Given the description of an element on the screen output the (x, y) to click on. 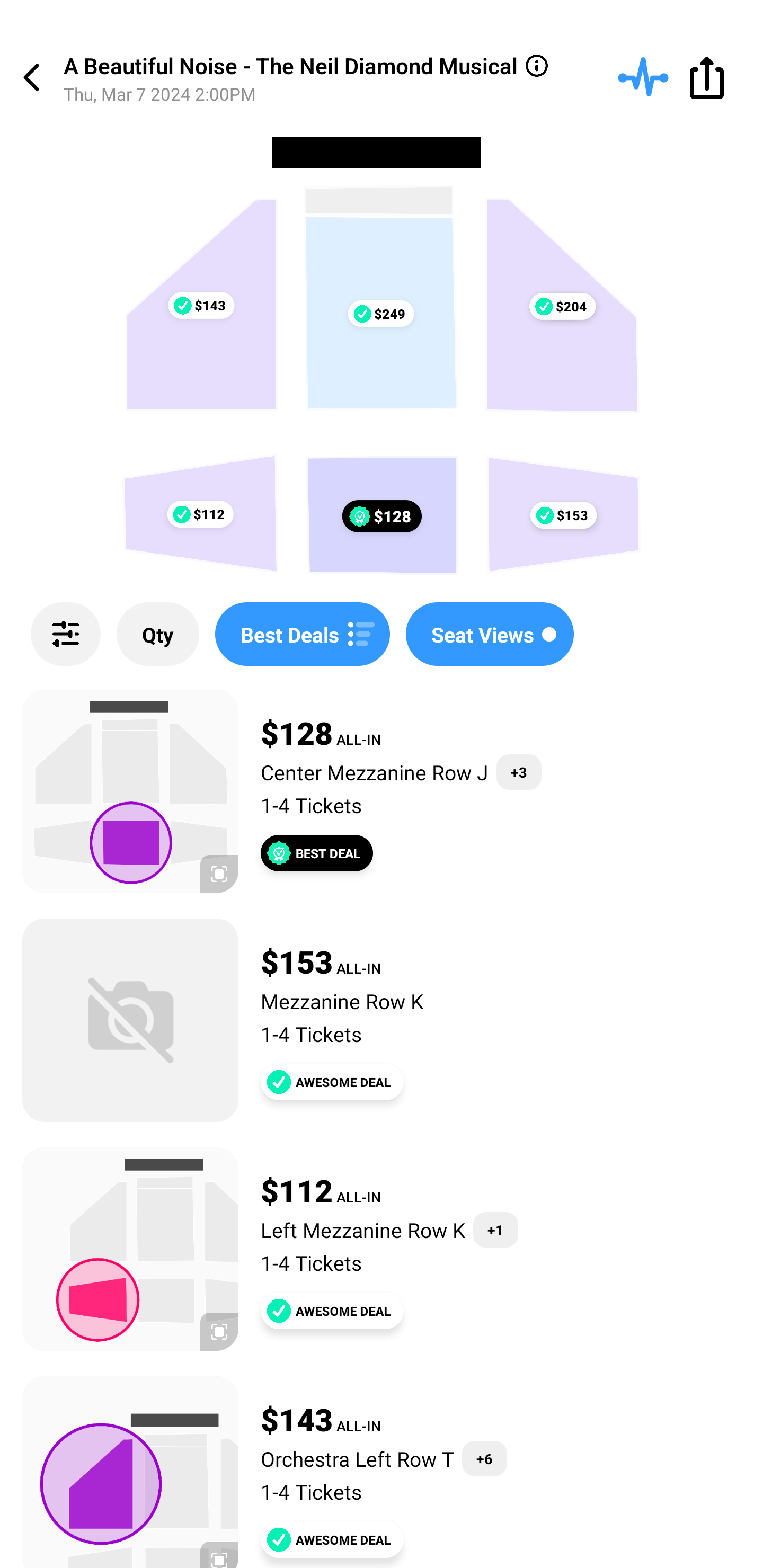
$249 (380, 313)
Qty (157, 634)
Best Deals (302, 634)
Seat Views (489, 634)
+3 (518, 772)
BEST DEAL (316, 852)
AWESOME DEAL (331, 1081)
+1 (495, 1230)
AWESOME DEAL (331, 1310)
+6 (484, 1458)
AWESOME DEAL (331, 1539)
